Given the description of an element on the screen output the (x, y) to click on. 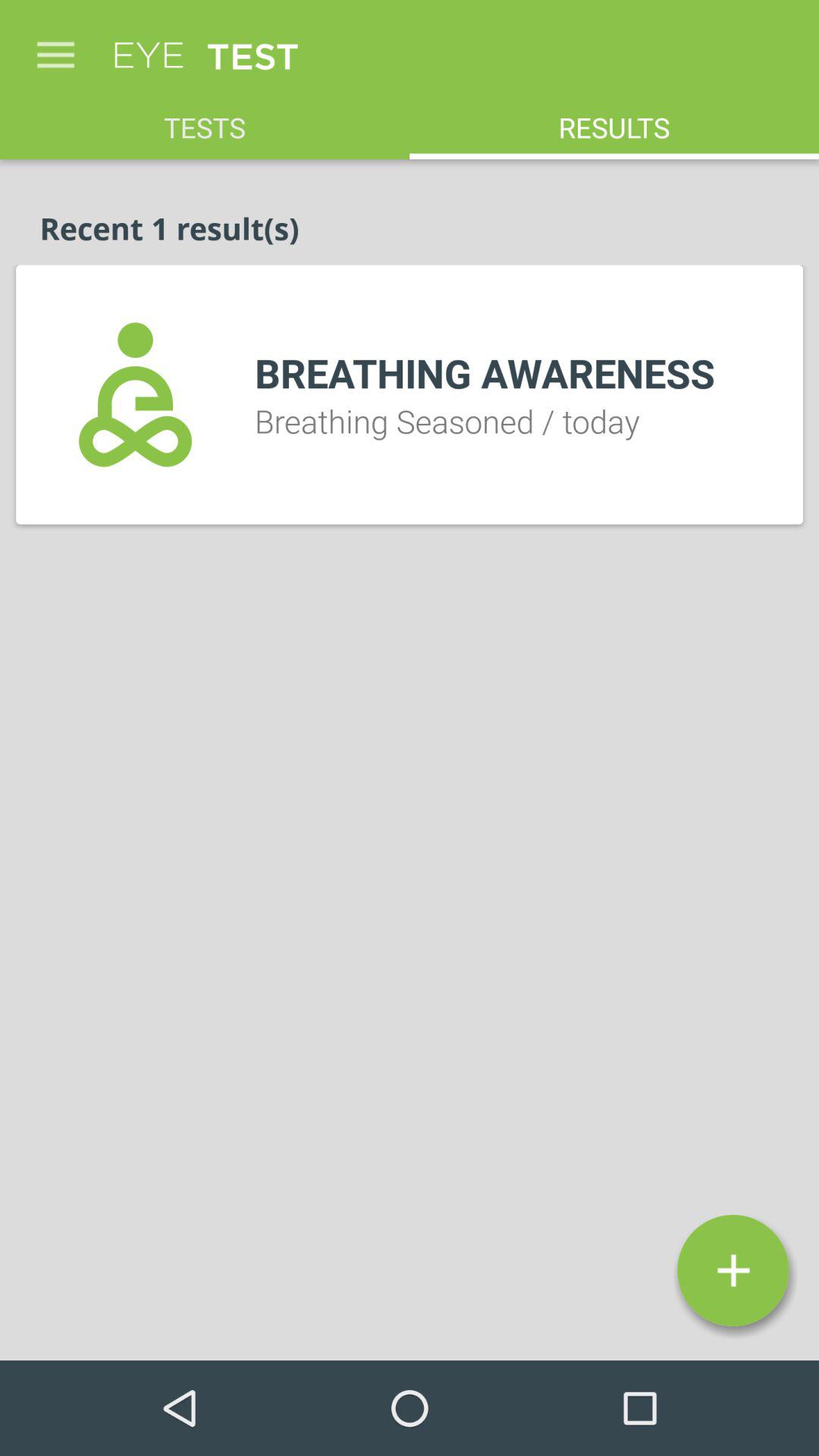
press the icon next to the results icon (204, 119)
